Given the description of an element on the screen output the (x, y) to click on. 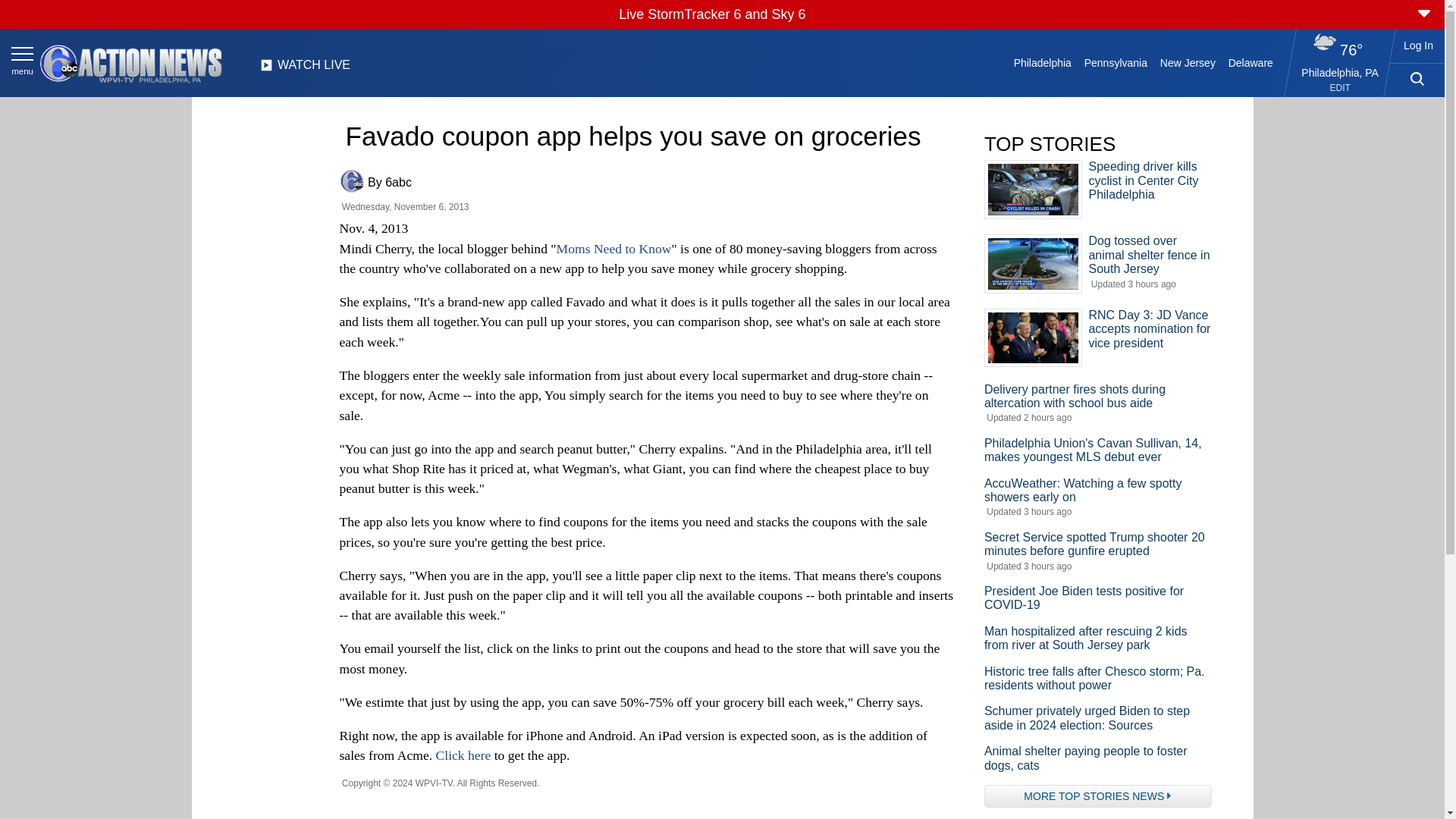
EDIT (1340, 87)
New Jersey (1187, 62)
WATCH LIVE (305, 69)
Philadelphia (1042, 62)
Philadelphia, PA (1339, 72)
Pennsylvania (1115, 62)
Delaware (1250, 62)
